Given the description of an element on the screen output the (x, y) to click on. 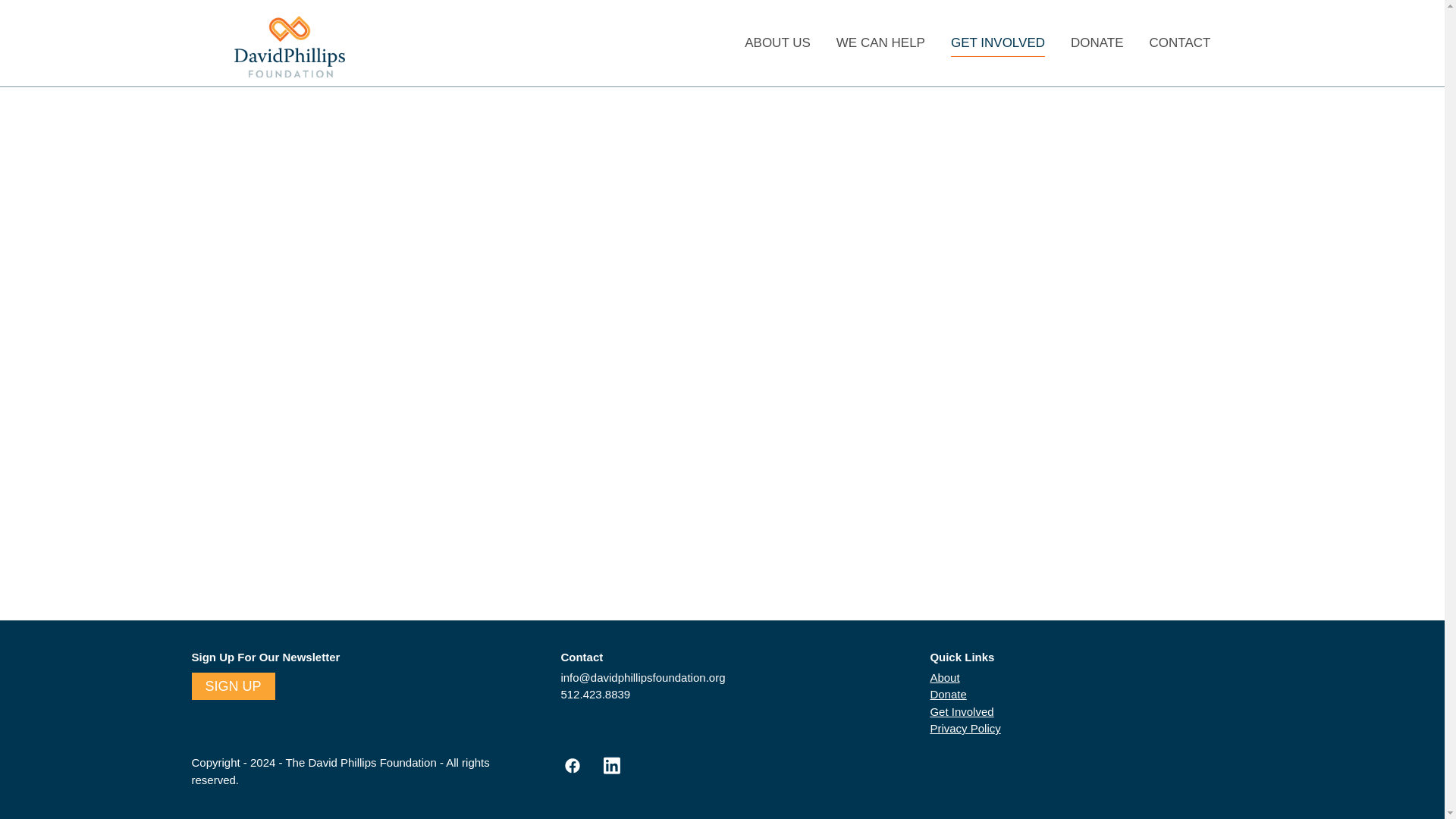
GET INVOLVED (997, 43)
SIGN UP (232, 686)
Get Involved (961, 711)
WE CAN HELP (879, 43)
About (944, 676)
Donate (948, 694)
Privacy Policy (965, 727)
DONATE (1097, 43)
ABOUT US (777, 43)
David Phillips Foundation (287, 46)
CONTACT (1180, 43)
